Given the description of an element on the screen output the (x, y) to click on. 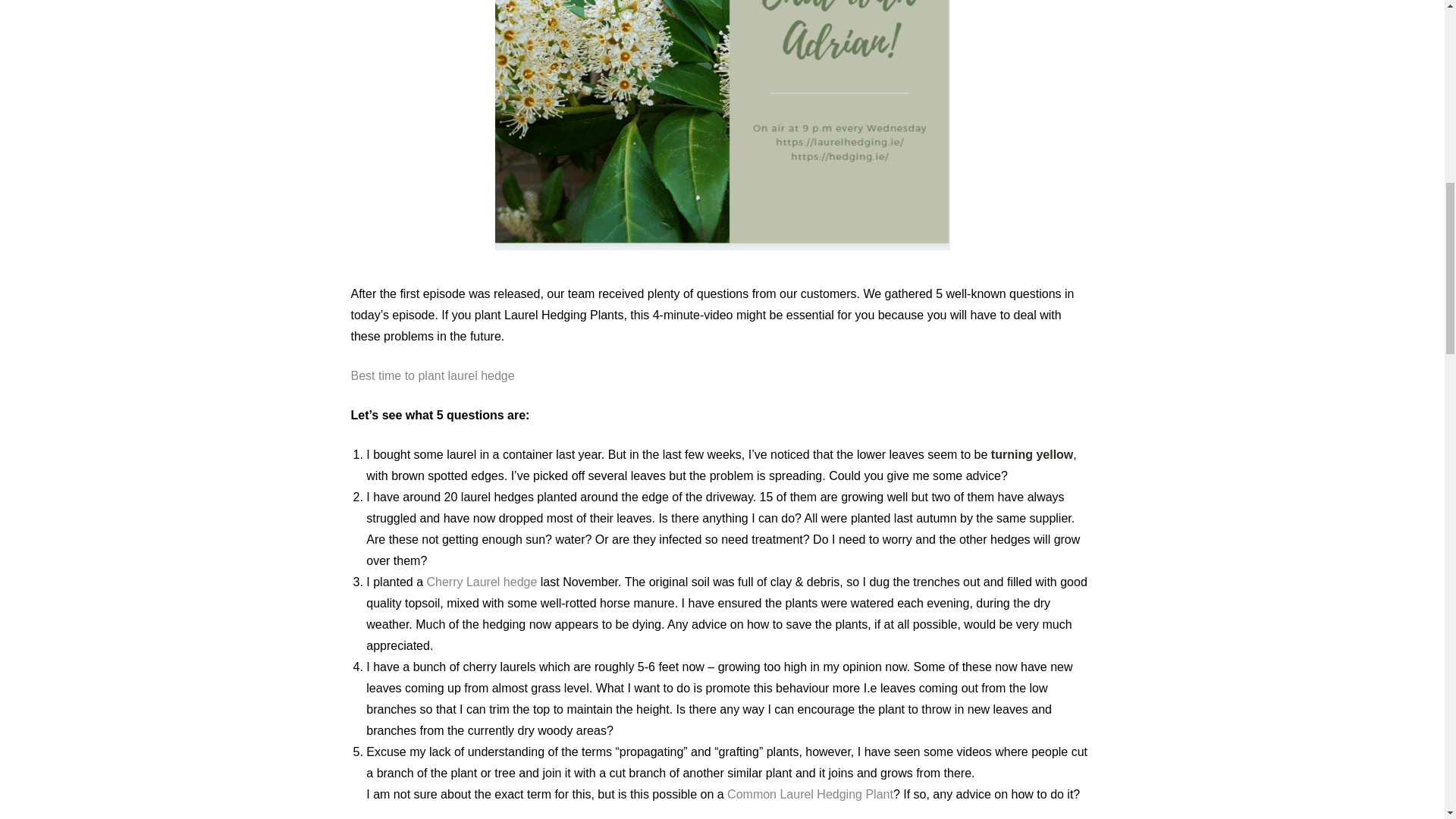
Best time to plant laurel hedge (431, 375)
Cherry Laurel hedge (481, 581)
Common Laurel Hedging Plant (809, 793)
turning yellow (1030, 454)
best time to plant laurel hedge (431, 375)
